Given the description of an element on the screen output the (x, y) to click on. 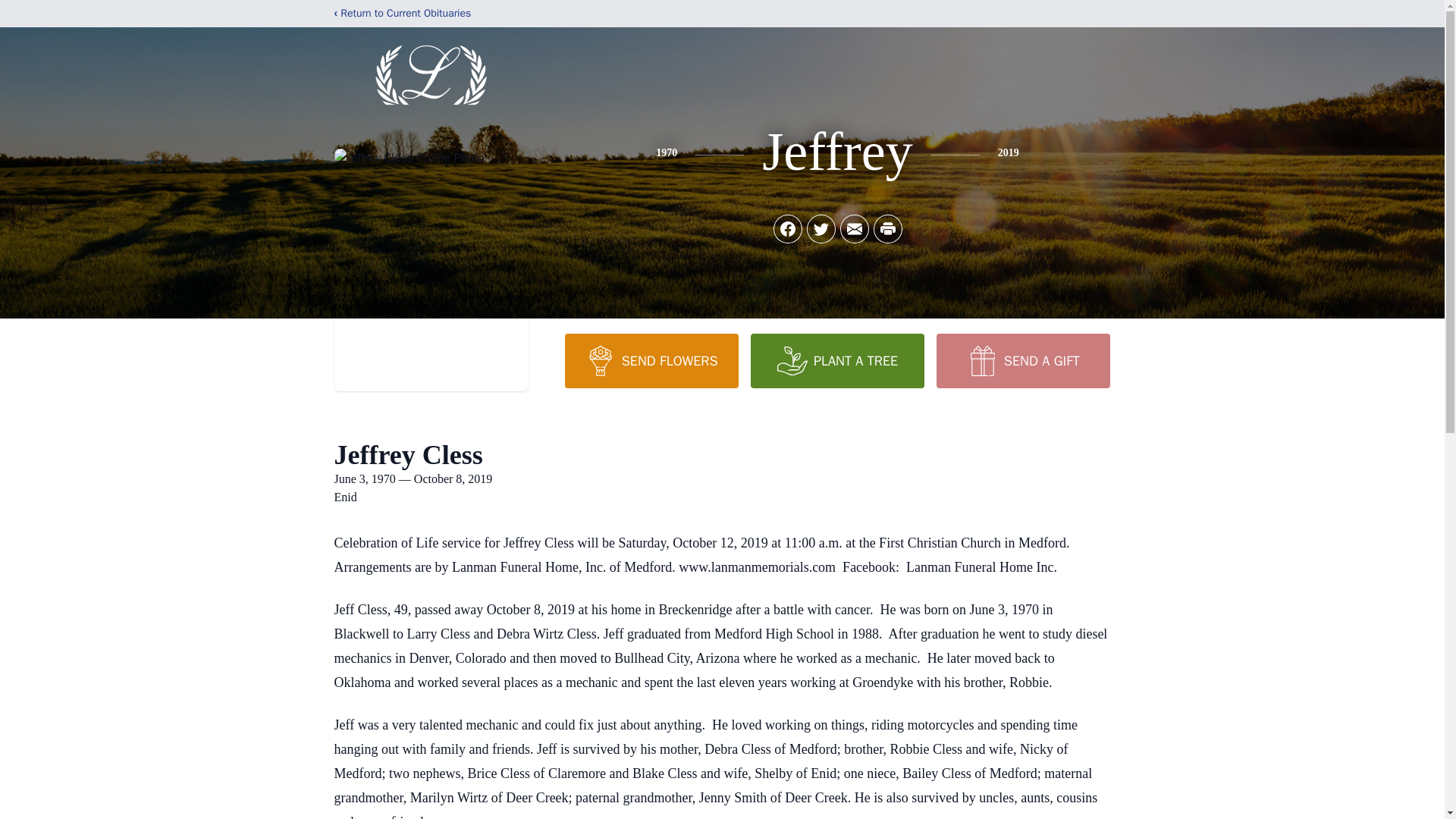
SEND FLOWERS (651, 360)
SEND A GIFT (1022, 360)
PLANT A TREE (837, 360)
